Given the description of an element on the screen output the (x, y) to click on. 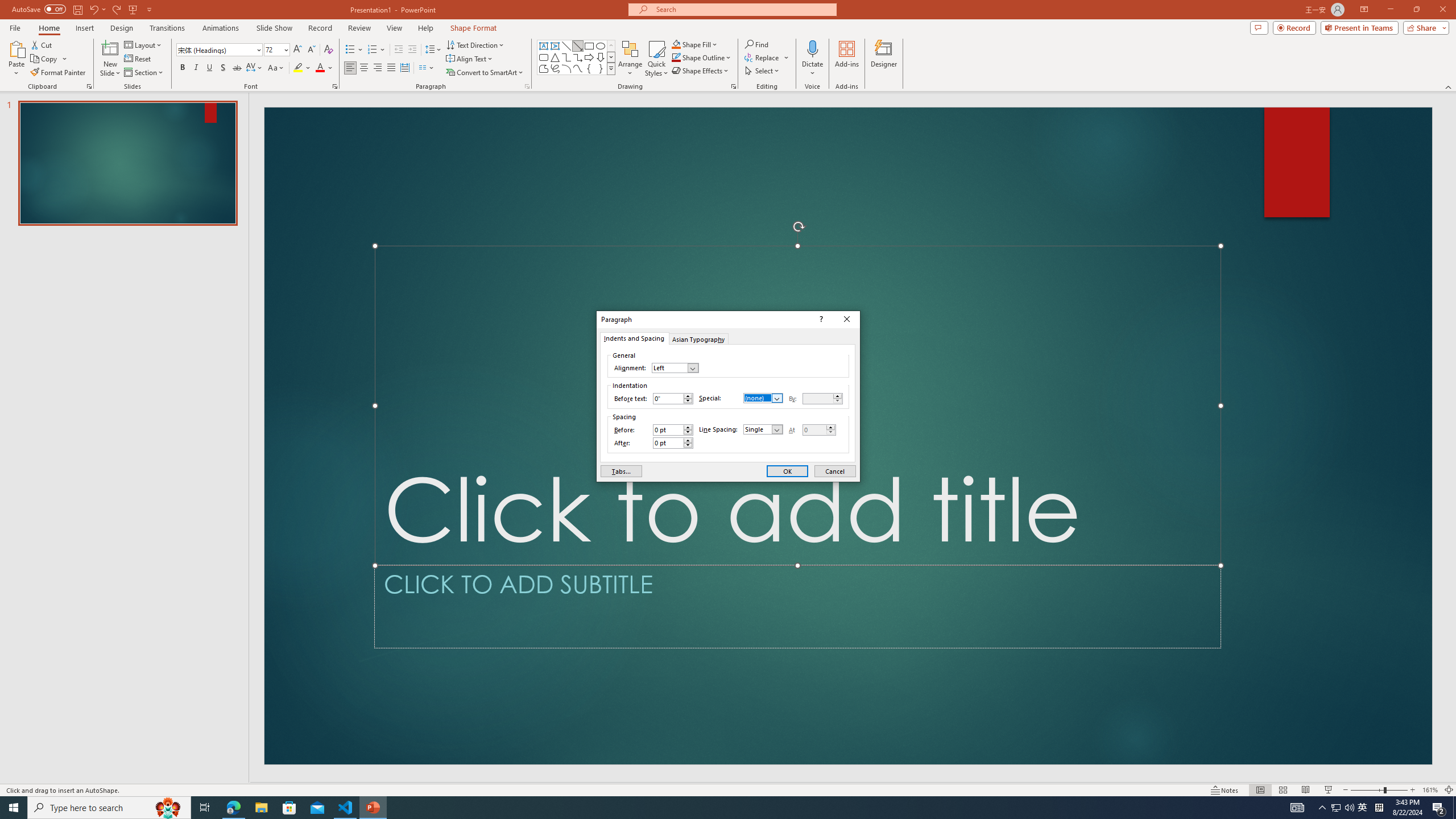
AutomationID: ShapesInsertGallery (576, 57)
Clear Formatting (327, 49)
Task View (204, 807)
AutomationID: 4105 (1297, 807)
Font Color Red (320, 67)
Shape Effects (700, 69)
Before (672, 429)
Connector: Elbow Arrow (577, 57)
Running applications (707, 807)
Before text (667, 398)
Visual Studio Code - 1 running window (345, 807)
Tray Input Indicator - Chinese (Simplified, China) (1378, 807)
Connector: Elbow (566, 57)
